Given the description of an element on the screen output the (x, y) to click on. 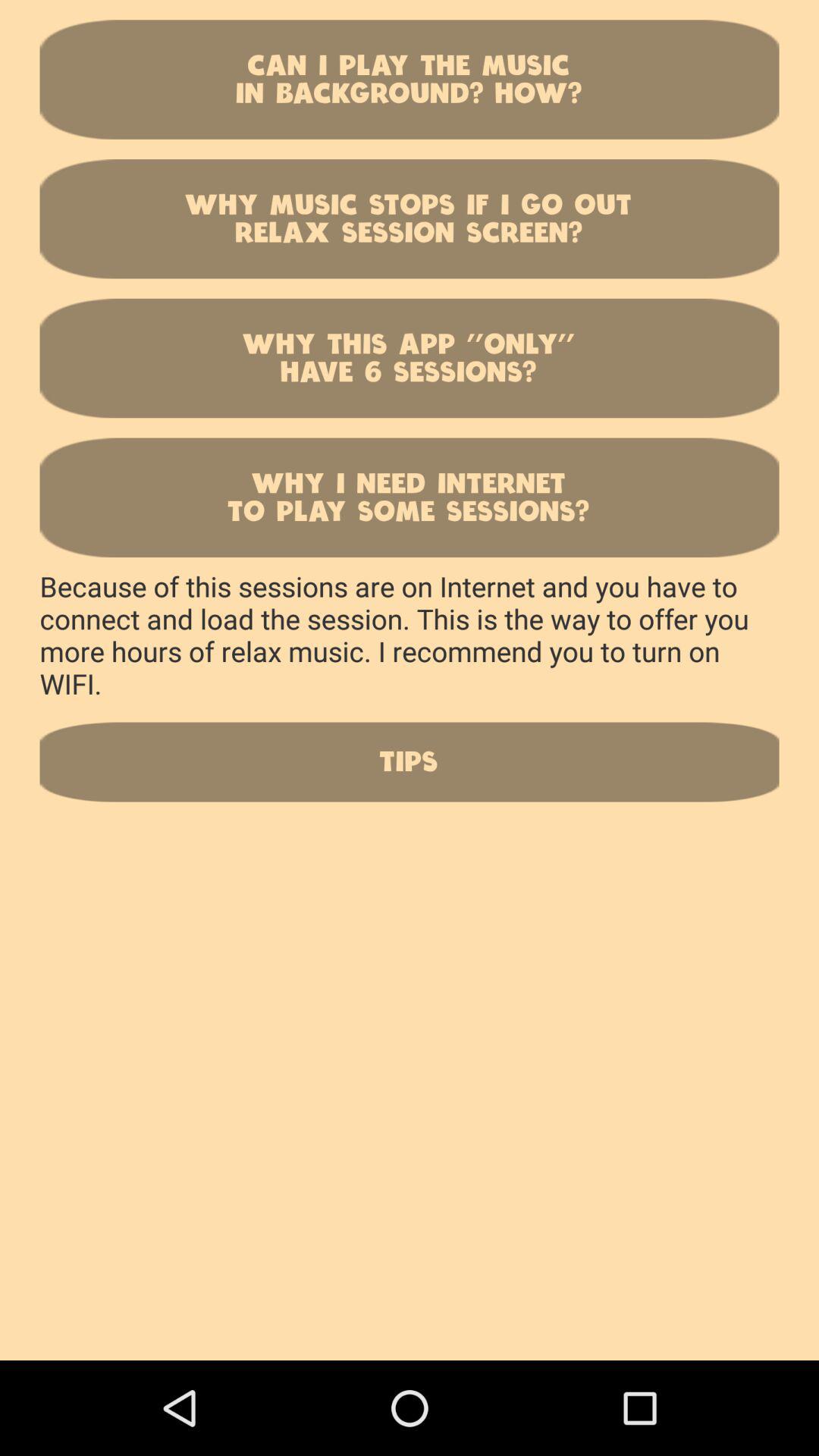
click why music stops button (409, 218)
